Given the description of an element on the screen output the (x, y) to click on. 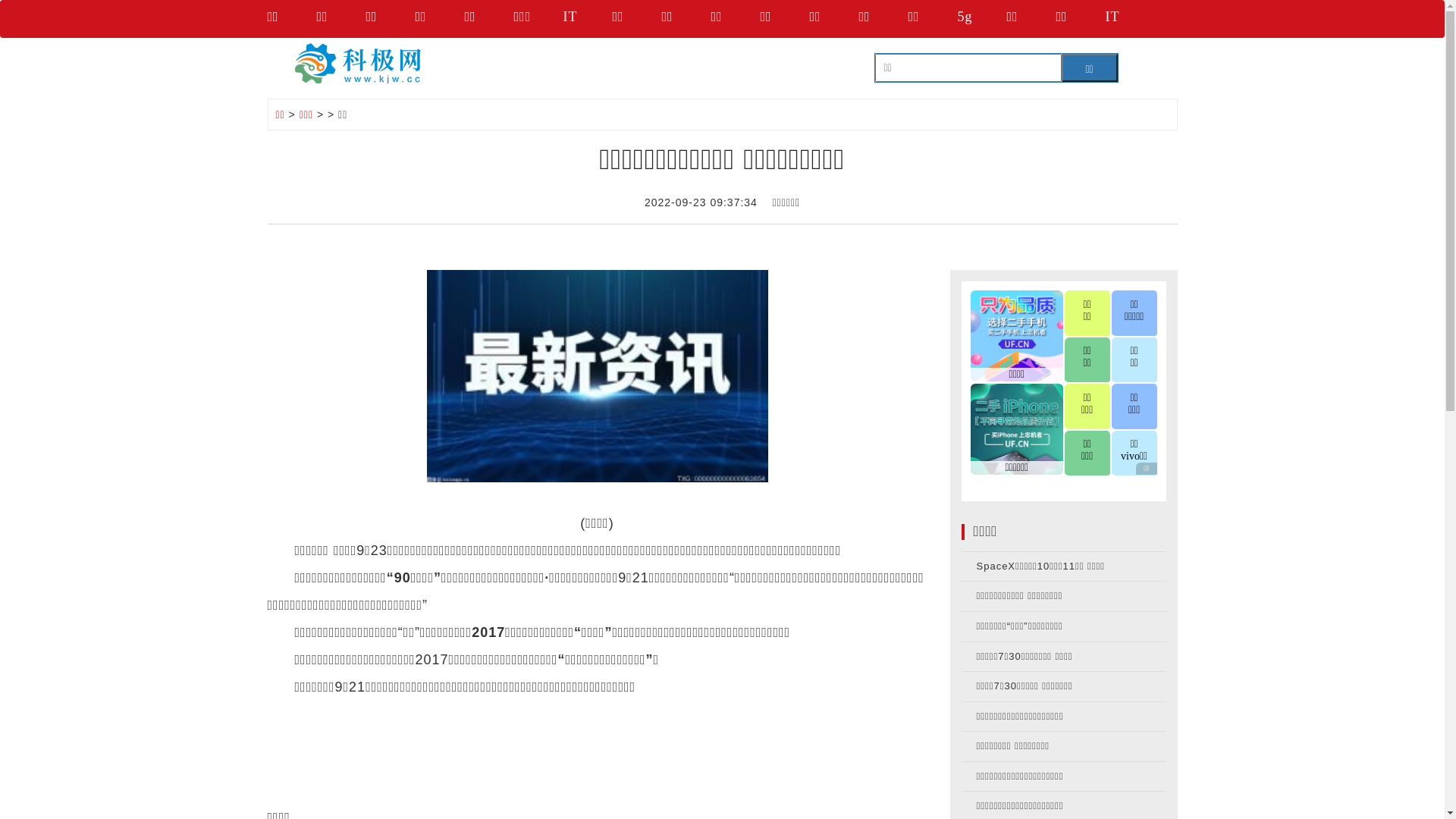
IT Element type: text (1129, 18)
5g Element type: text (981, 18)
IT Element type: text (586, 18)
